Given the description of an element on the screen output the (x, y) to click on. 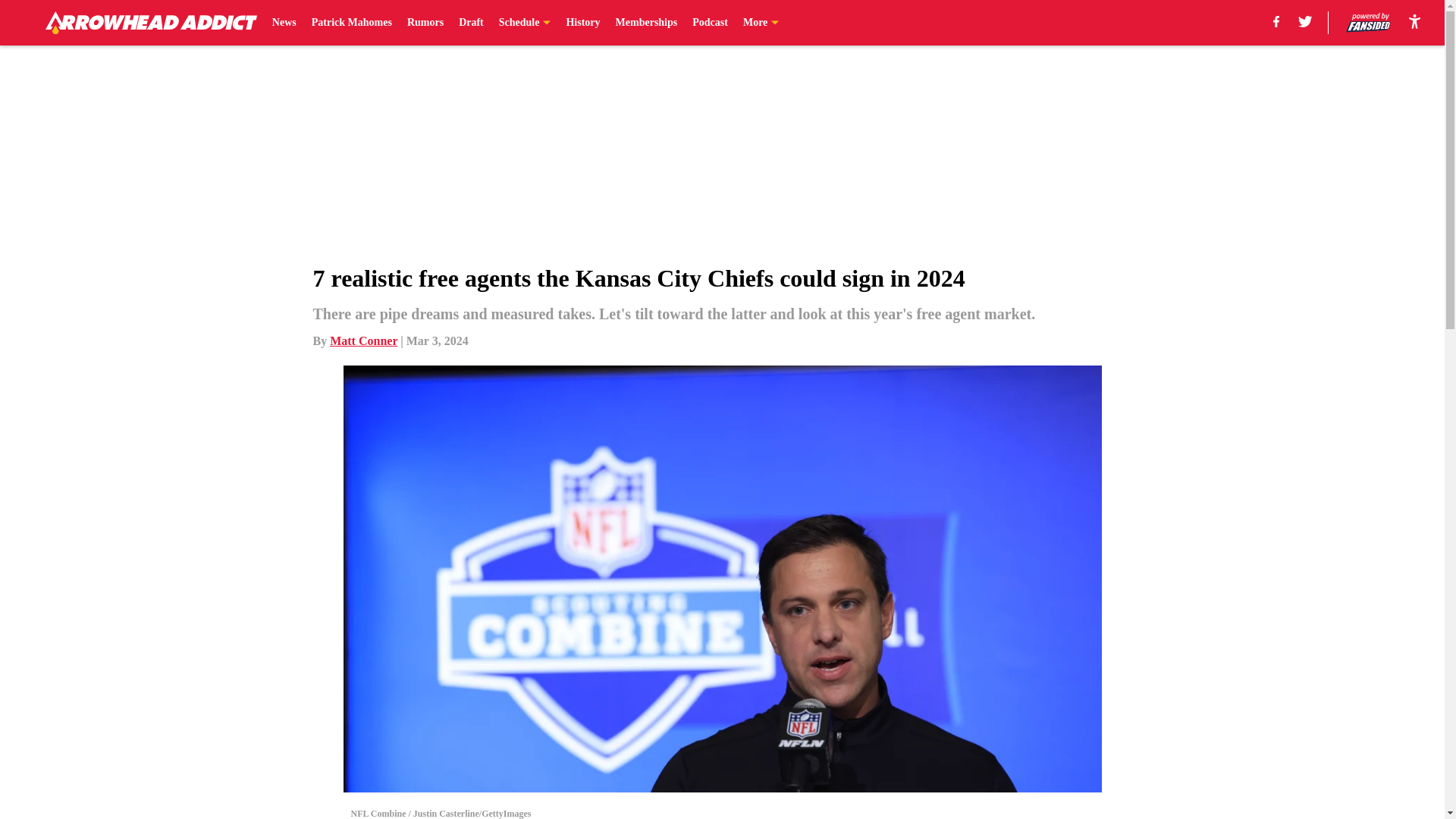
Rumors (425, 22)
Patrick Mahomes (351, 22)
Podcast (710, 22)
Memberships (646, 22)
News (284, 22)
Matt Conner (363, 340)
History (582, 22)
Draft (470, 22)
